Given the description of an element on the screen output the (x, y) to click on. 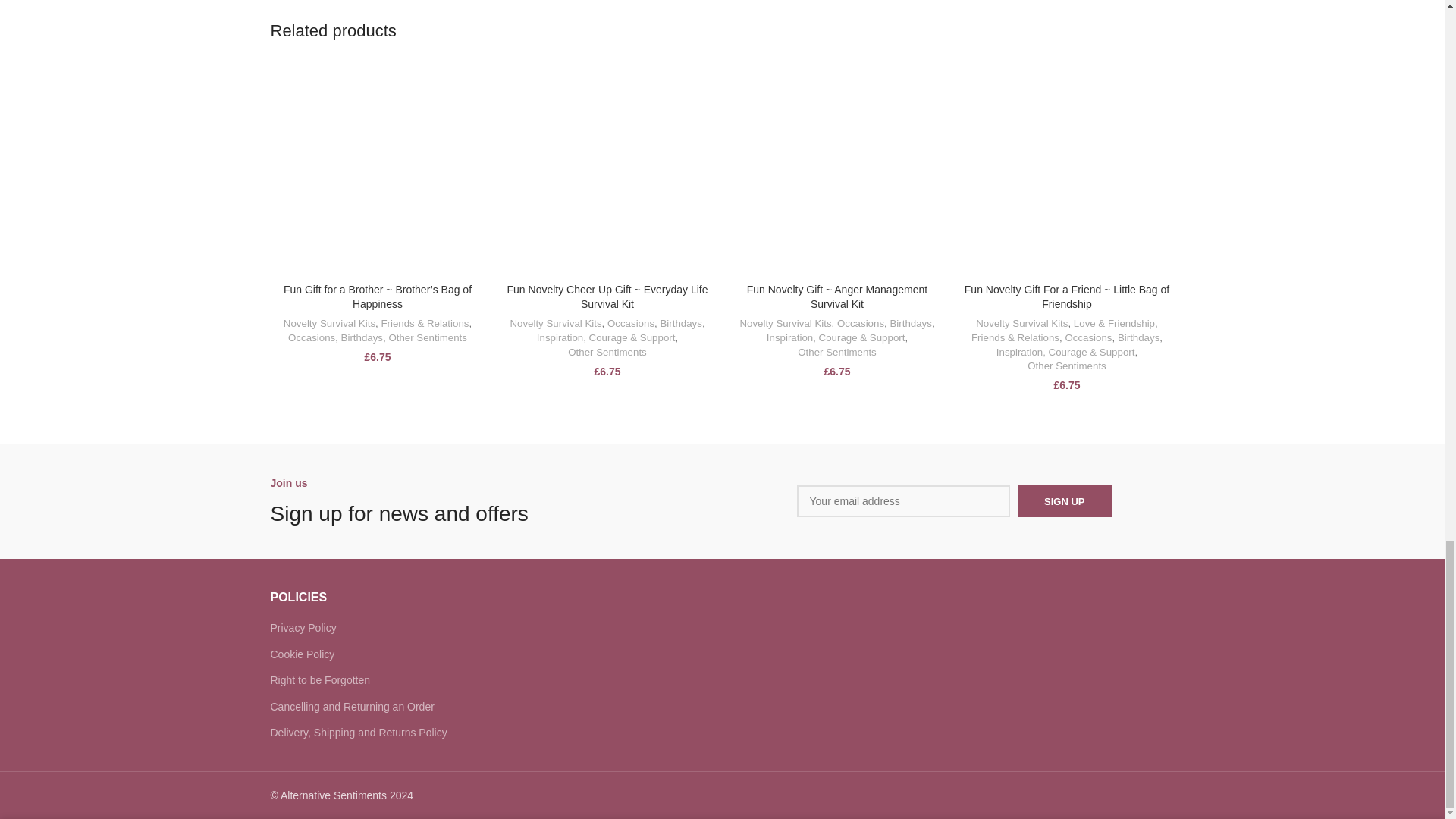
Sign up (1063, 500)
